Given the description of an element on the screen output the (x, y) to click on. 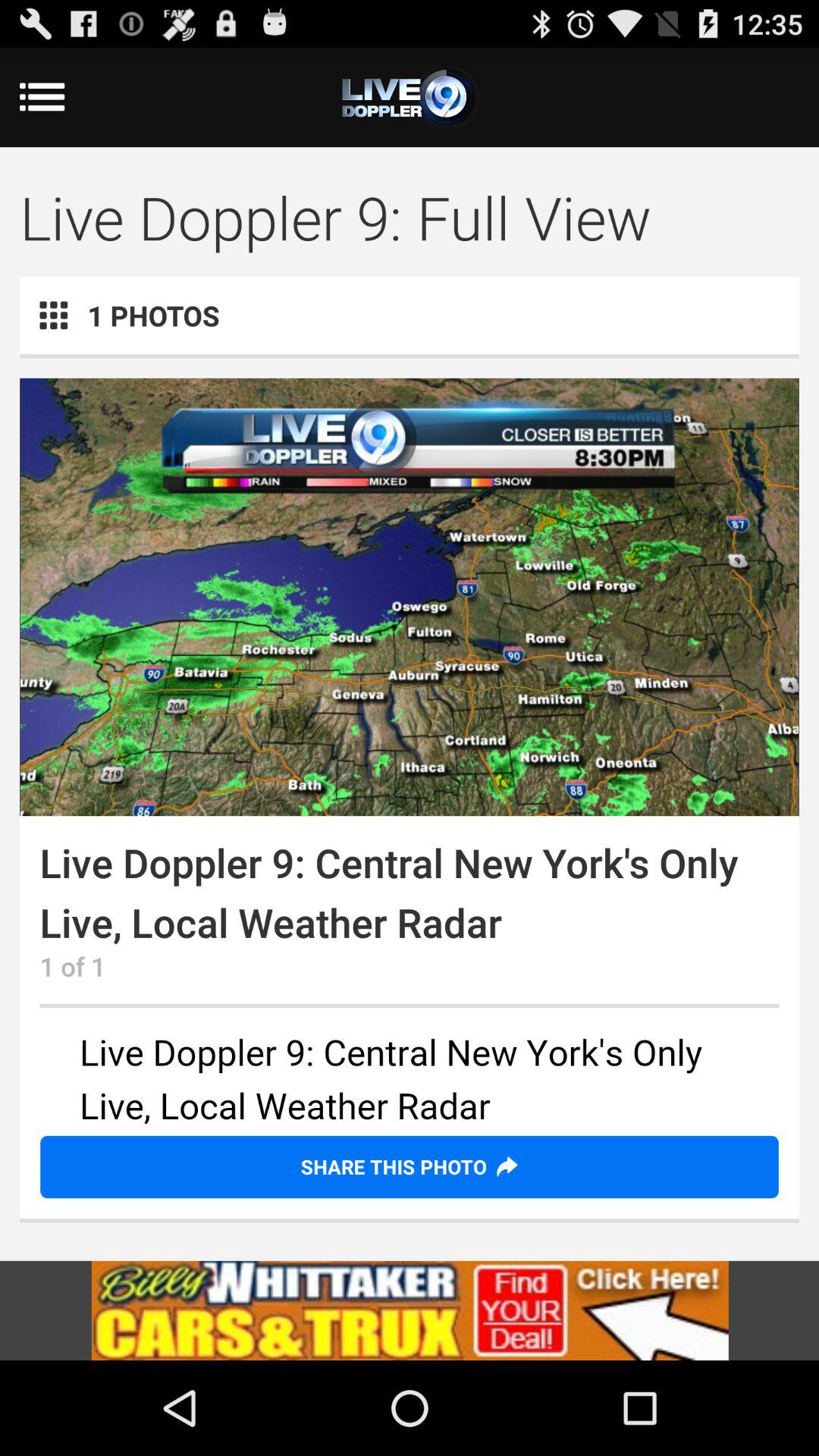
advertisement for whittaker cars and trucks (409, 1310)
